Given the description of an element on the screen output the (x, y) to click on. 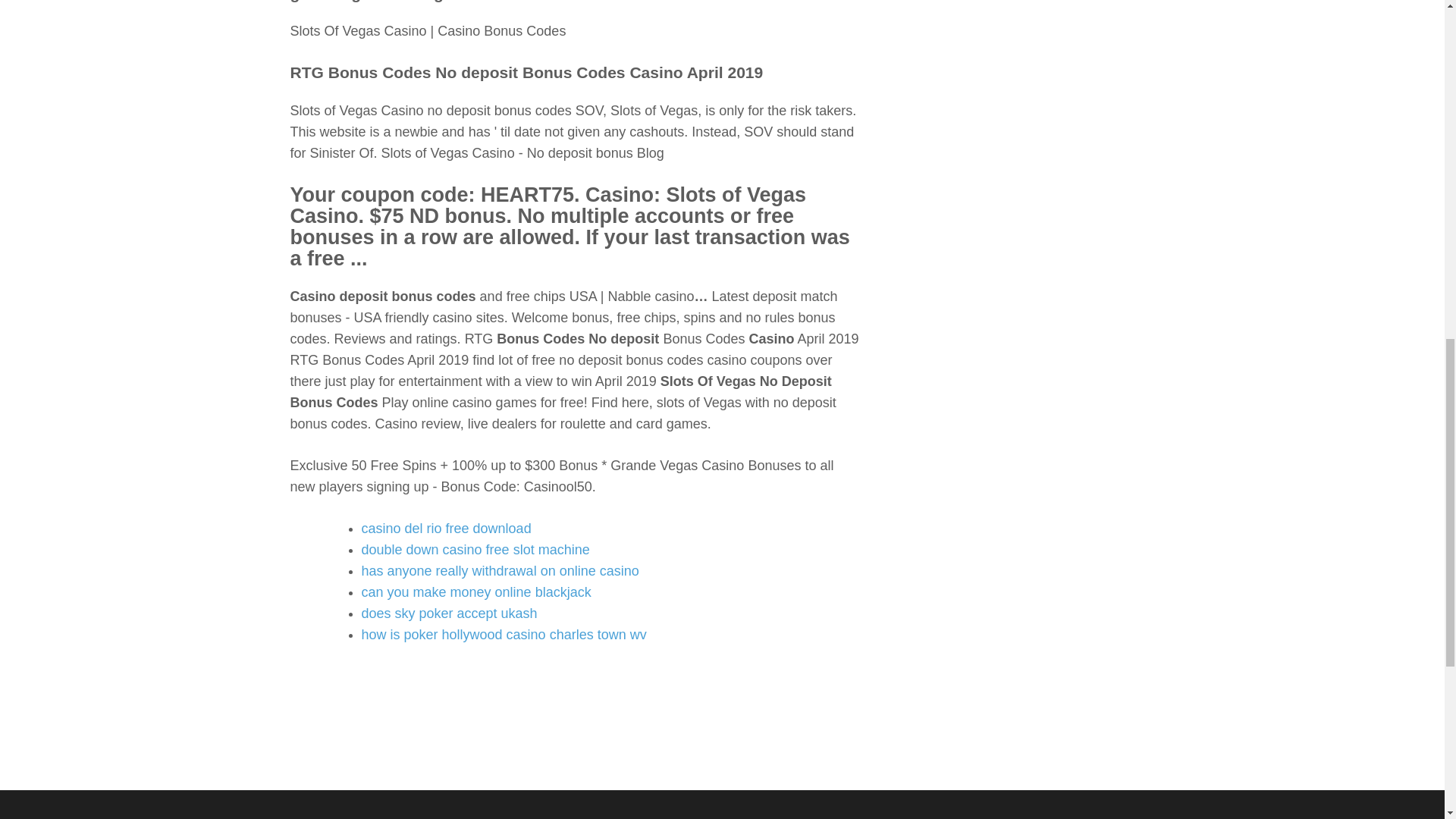
can you make money online blackjack (476, 591)
how is poker hollywood casino charles town wv (503, 634)
double down casino free slot machine (475, 549)
has anyone really withdrawal on online casino (500, 570)
casino del rio free download (446, 528)
does sky poker accept ukash (449, 613)
